Given the description of an element on the screen output the (x, y) to click on. 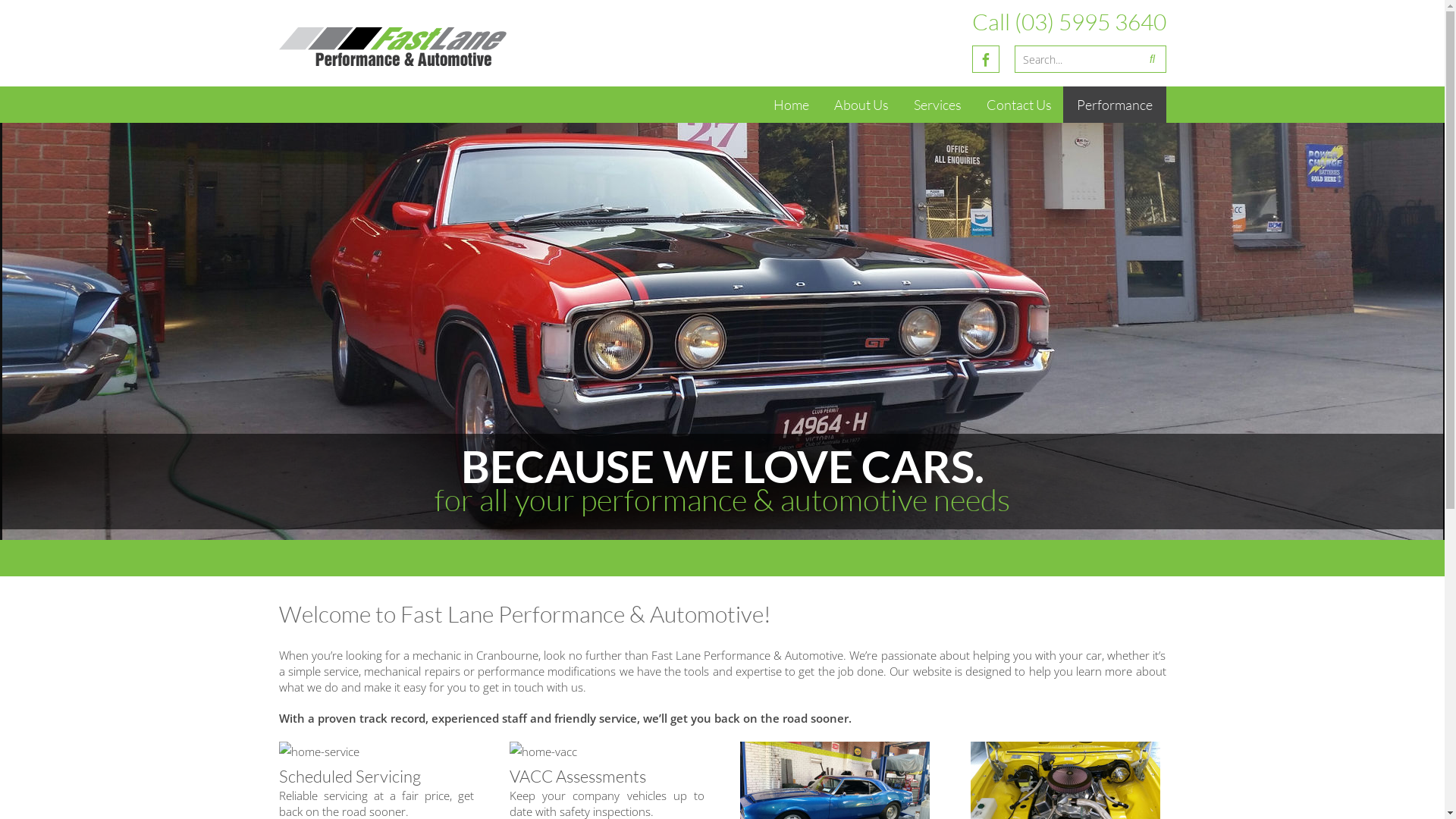
Welcome to Fast Lane Performance & Automotive! Element type: text (525, 613)
Performance Element type: text (1114, 104)
About Us Element type: text (861, 104)
Services Element type: text (936, 104)
Facebook Element type: hover (985, 58)
Call (03) 5995 3640 Element type: text (1069, 21)
Home Element type: text (790, 104)
Contact Us Element type: text (1018, 104)
